Given the description of an element on the screen output the (x, y) to click on. 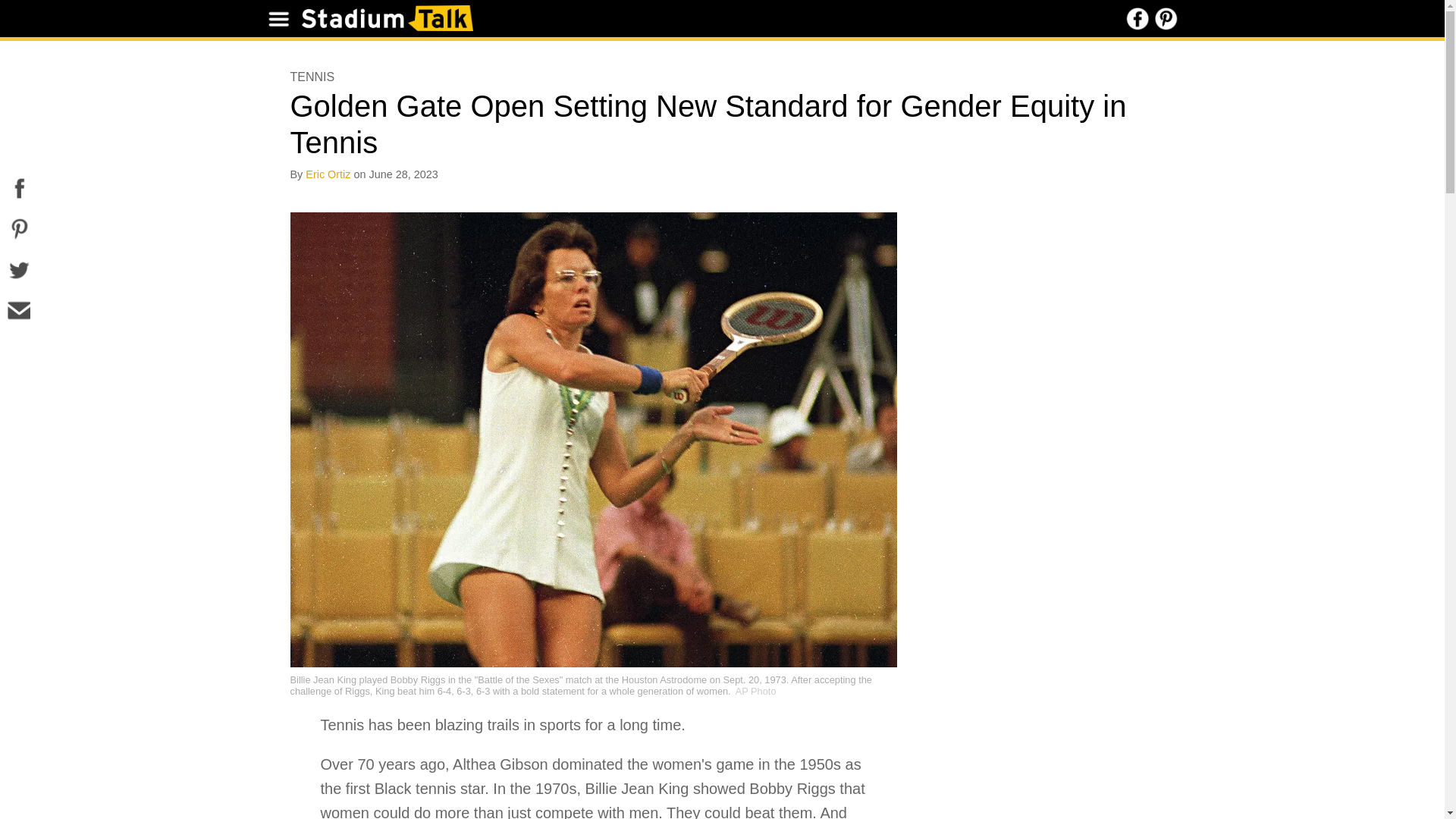
Eric Ortiz (327, 174)
